Given the description of an element on the screen output the (x, y) to click on. 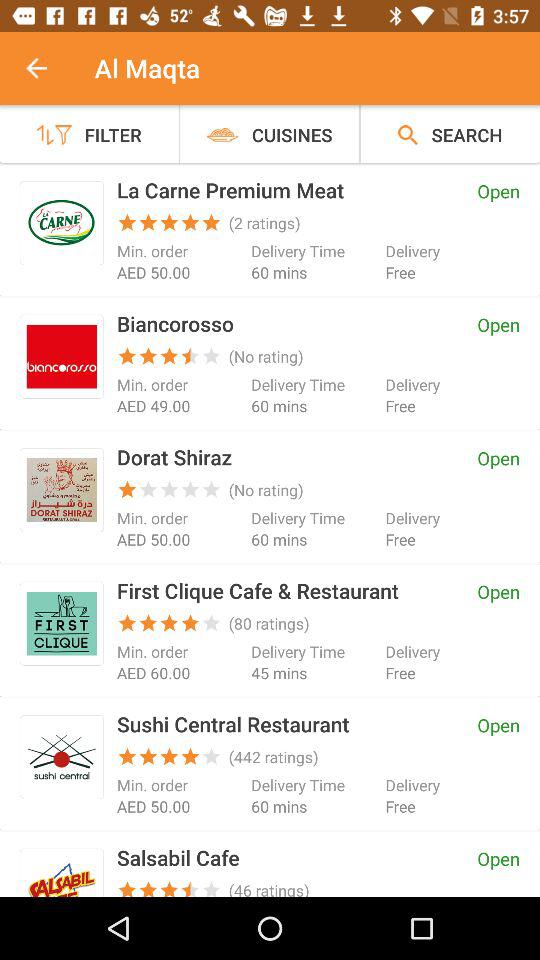
go back (47, 68)
